Given the description of an element on the screen output the (x, y) to click on. 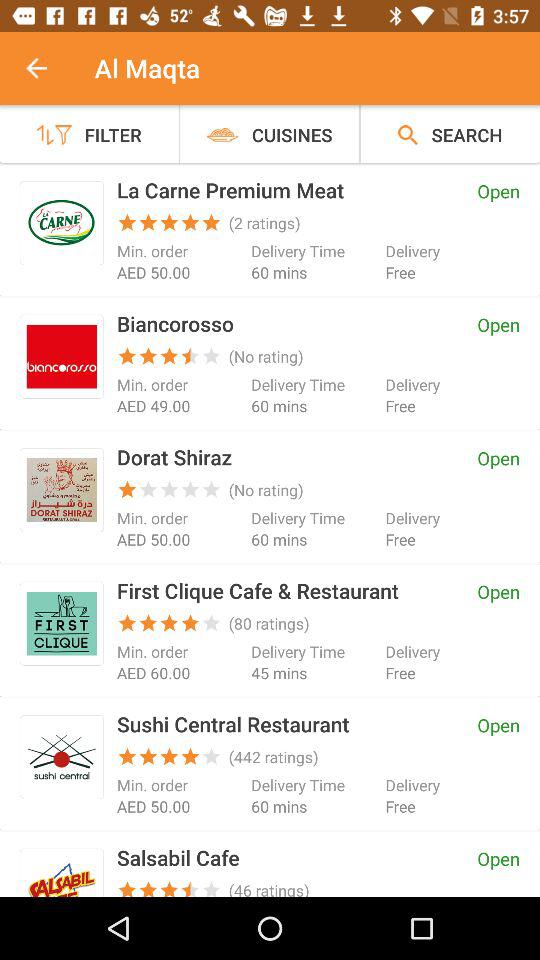
go back (47, 68)
